Given the description of an element on the screen output the (x, y) to click on. 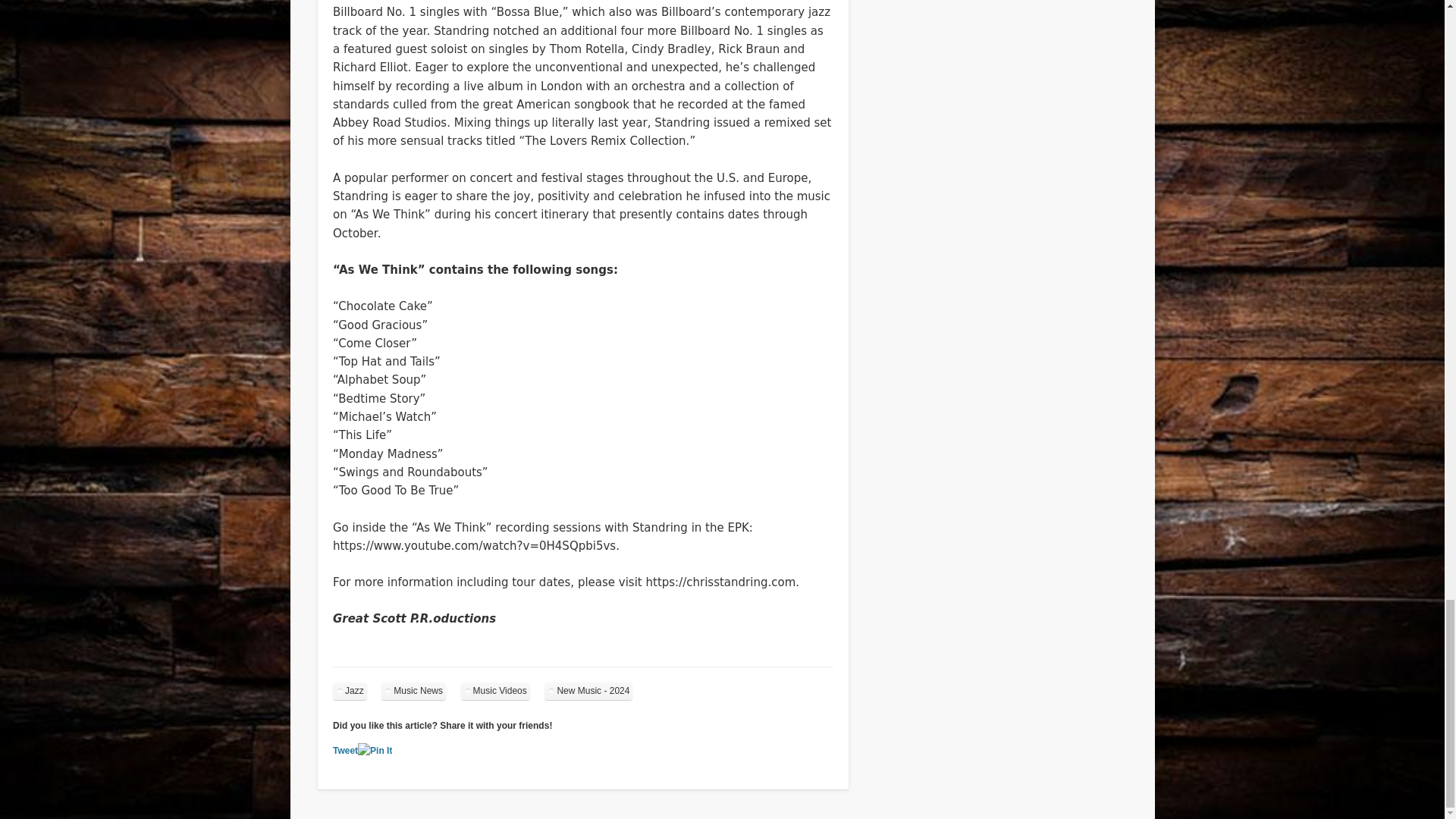
Tweet (345, 750)
Music Videos (495, 691)
Jazz (349, 691)
Music News (413, 691)
New Music - 2024 (587, 691)
Pin It (374, 750)
